Given the description of an element on the screen output the (x, y) to click on. 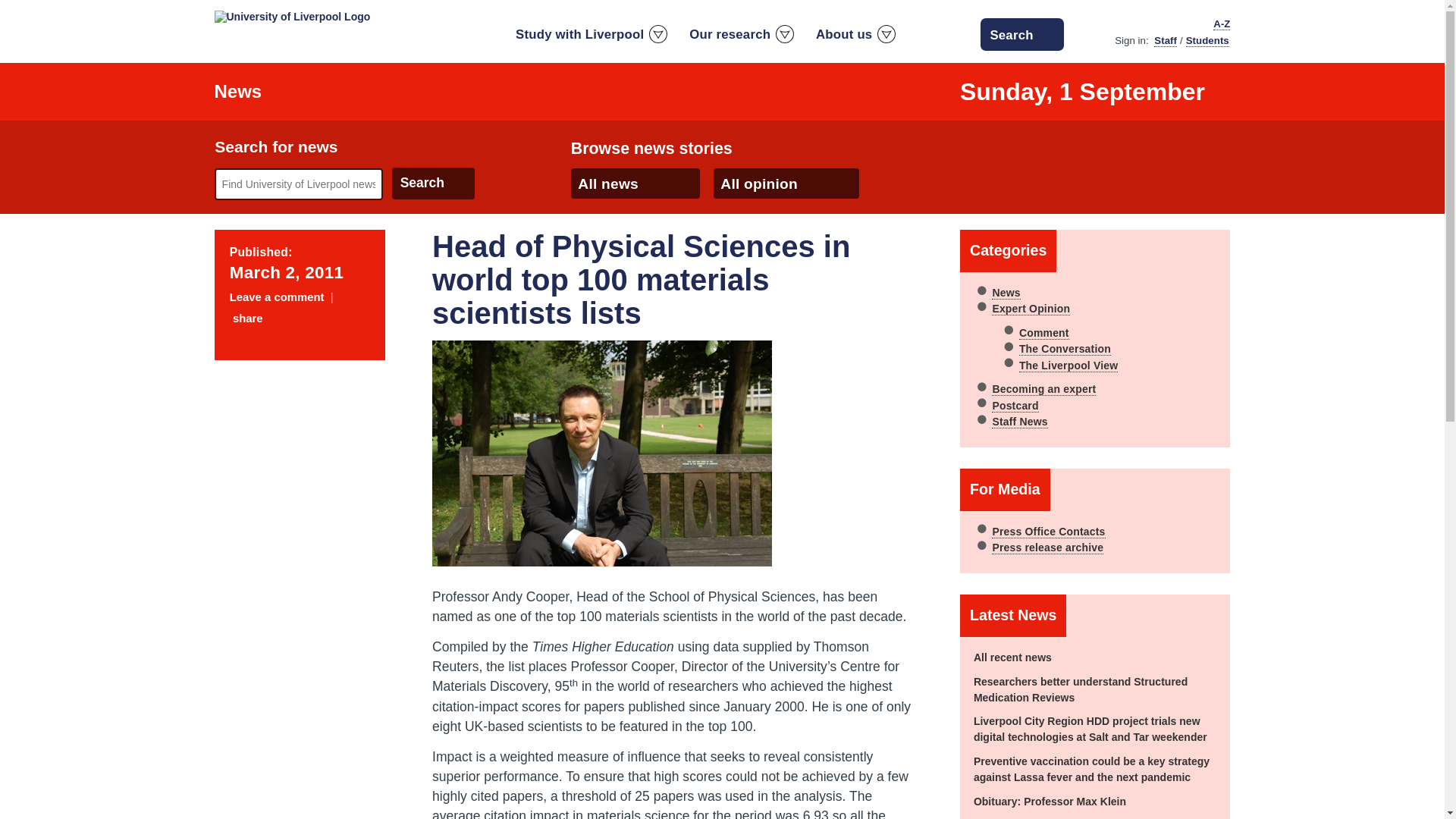
Researchers better understand Structured Medication Reviews (1081, 689)
University of Liverpool Home (291, 15)
Obituary: Professor Max Klein (1049, 801)
University of Liverpool Logo (291, 16)
Search (432, 183)
